Given the description of an element on the screen output the (x, y) to click on. 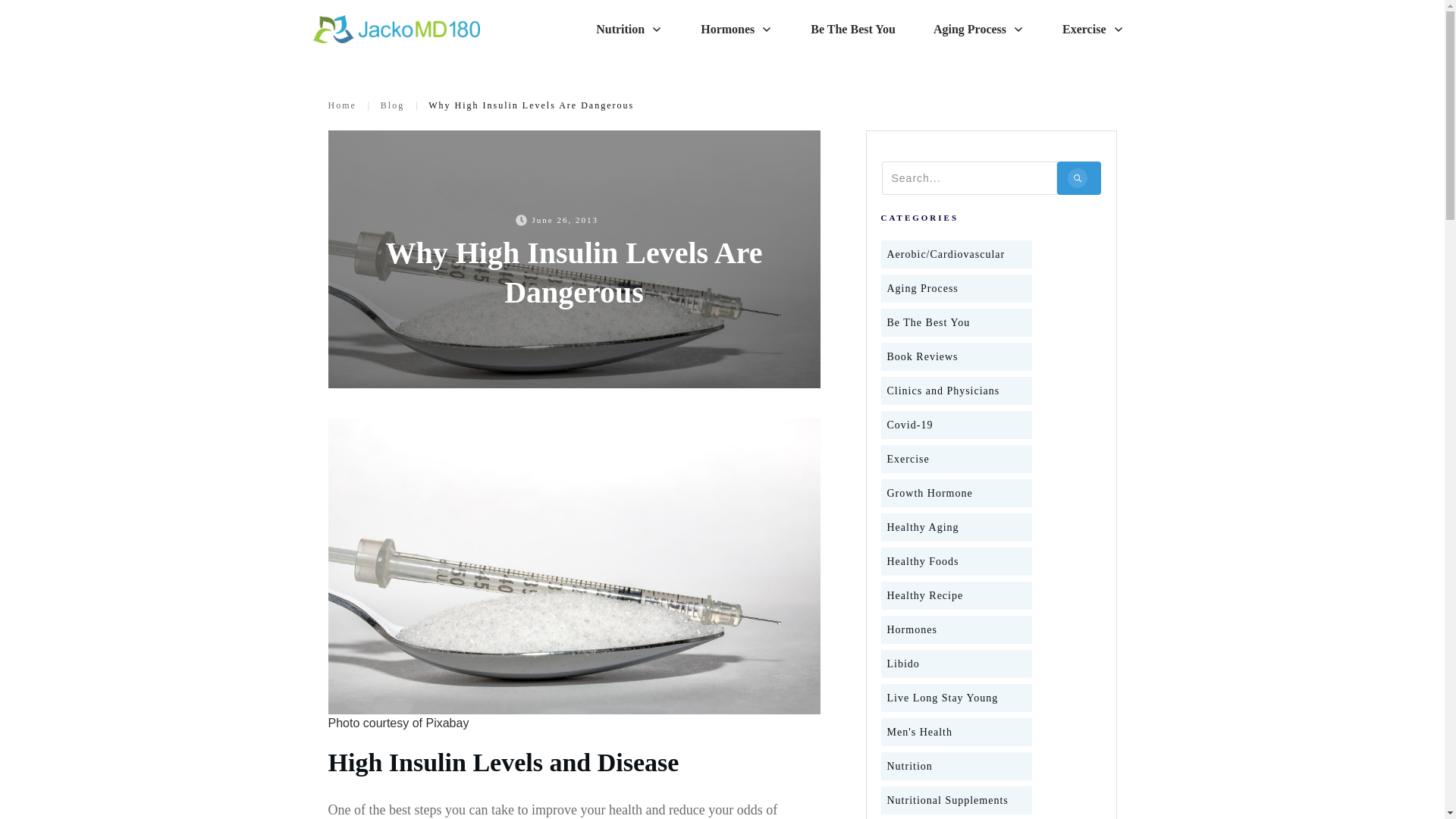
Home (341, 105)
Blog (392, 105)
Hormones (736, 29)
Exercise (1093, 29)
Nutrition (628, 29)
Be The Best You (852, 29)
Aging Process (979, 29)
